Given the description of an element on the screen output the (x, y) to click on. 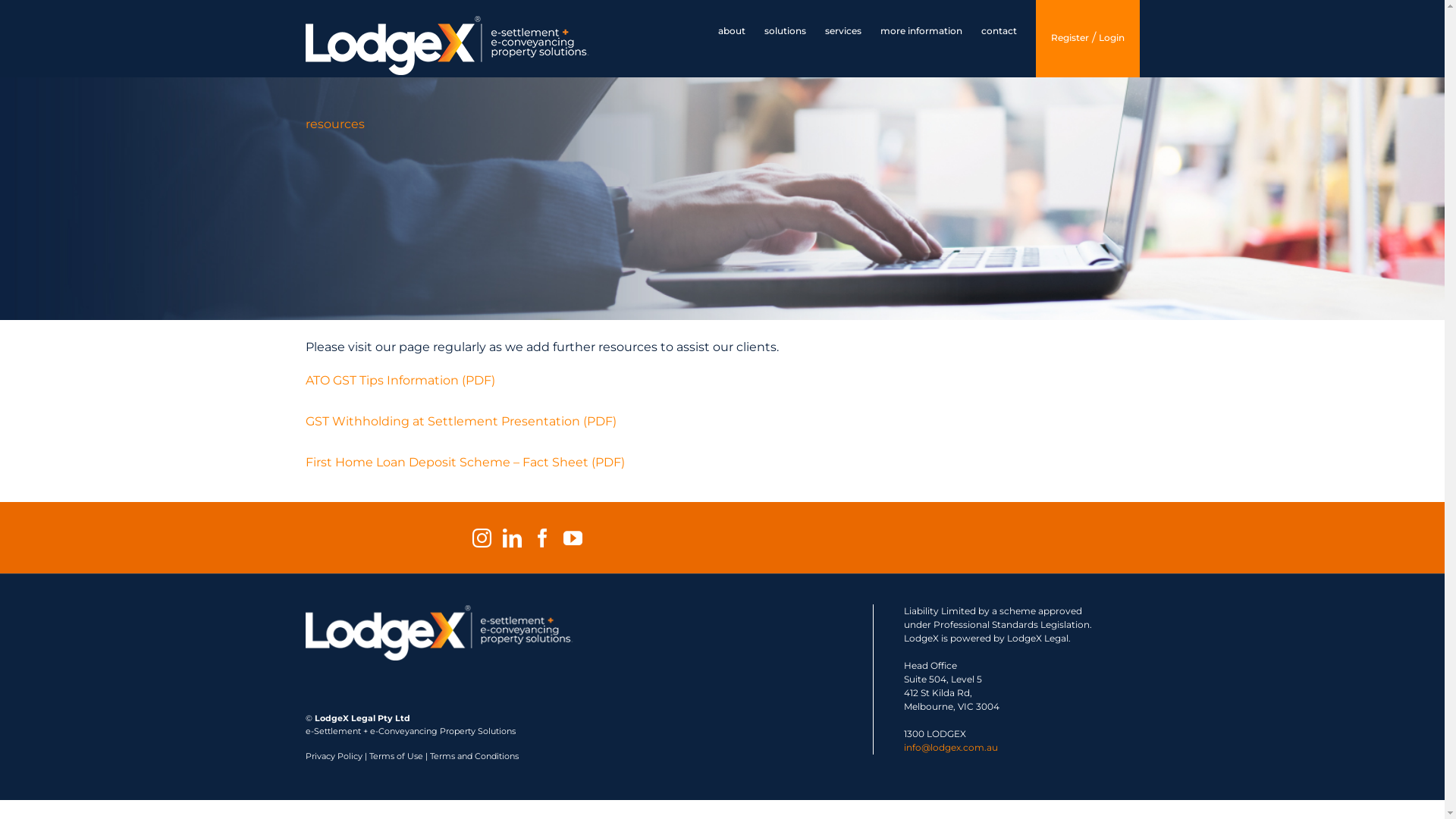
Login Element type: text (1110, 38)
Terms and Conditions Element type: text (473, 755)
about Element type: text (730, 31)
contact Element type: text (998, 31)
Register Element type: text (1069, 38)
services Element type: text (843, 31)
ATO GST Tips Information (PDF) Element type: text (399, 380)
solutions Element type: text (785, 31)
Privacy Policy Element type: text (332, 755)
GST Withholding at Settlement Presentation (PDF) Element type: text (459, 421)
more information Element type: text (920, 31)
Terms of Use Element type: text (395, 755)
info@lodgex.com.au Element type: text (950, 747)
